Given the description of an element on the screen output the (x, y) to click on. 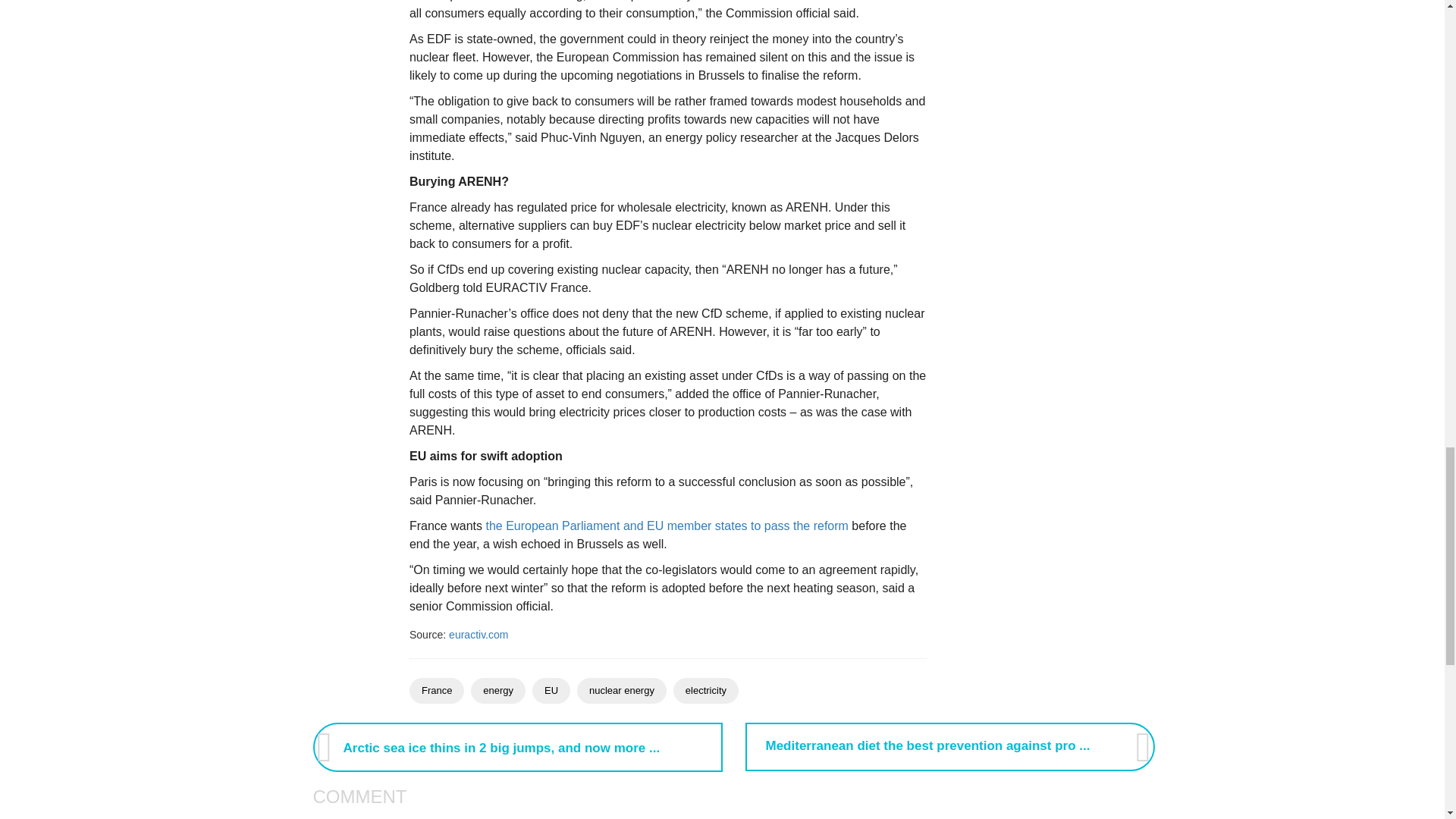
energy (497, 691)
EU (551, 691)
Arctic sea ice thins in 2 big jumps, and now more vulnerable (517, 746)
France (436, 691)
euractiv.com (478, 634)
